Given the description of an element on the screen output the (x, y) to click on. 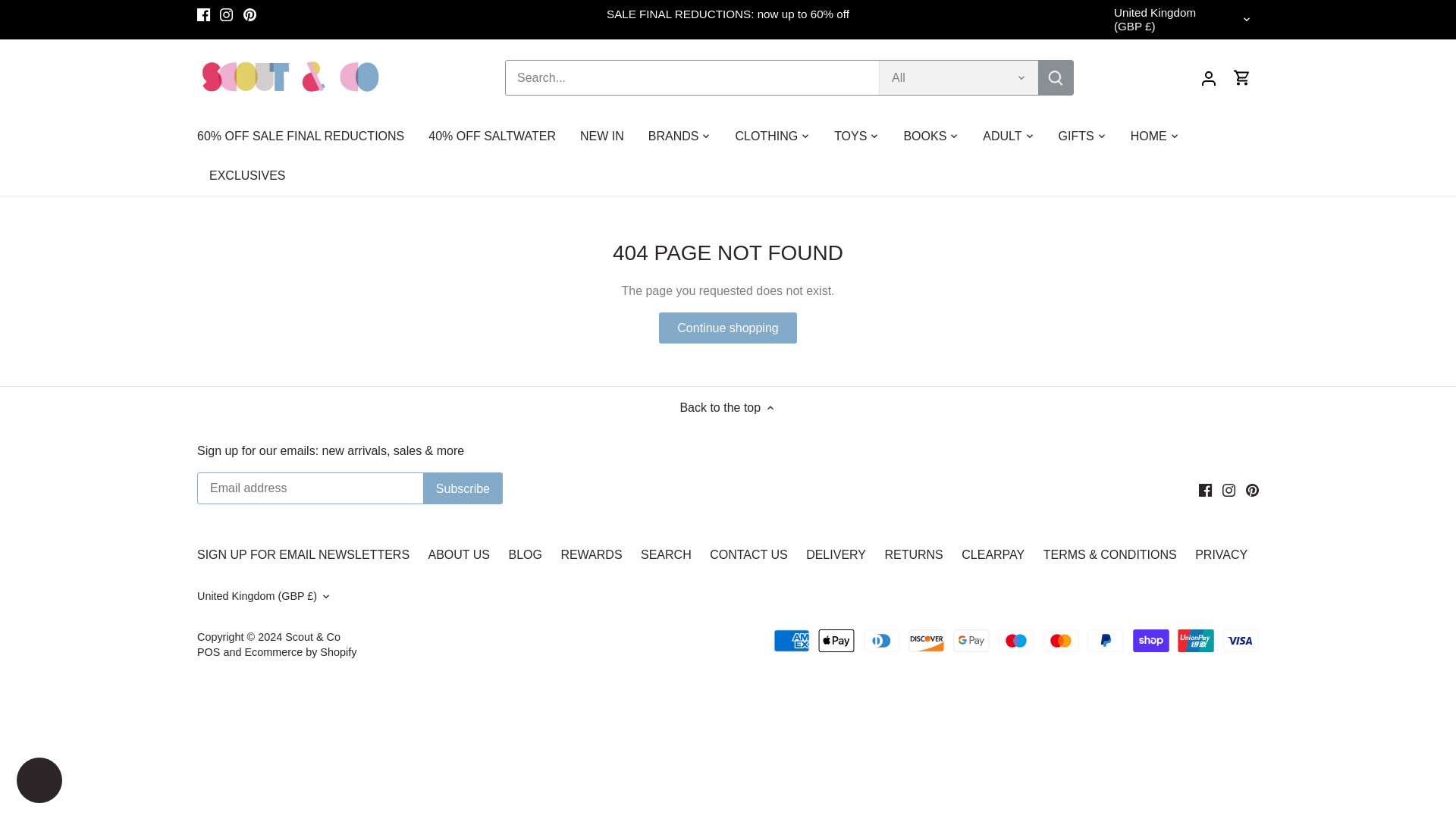
Instagram (225, 14)
Pinterest (1252, 490)
Facebook (1204, 490)
Instagram (1228, 490)
Pinterest (249, 14)
Subscribe (462, 488)
Facebook (202, 14)
Shopify online store chat (38, 781)
